Given the description of an element on the screen output the (x, y) to click on. 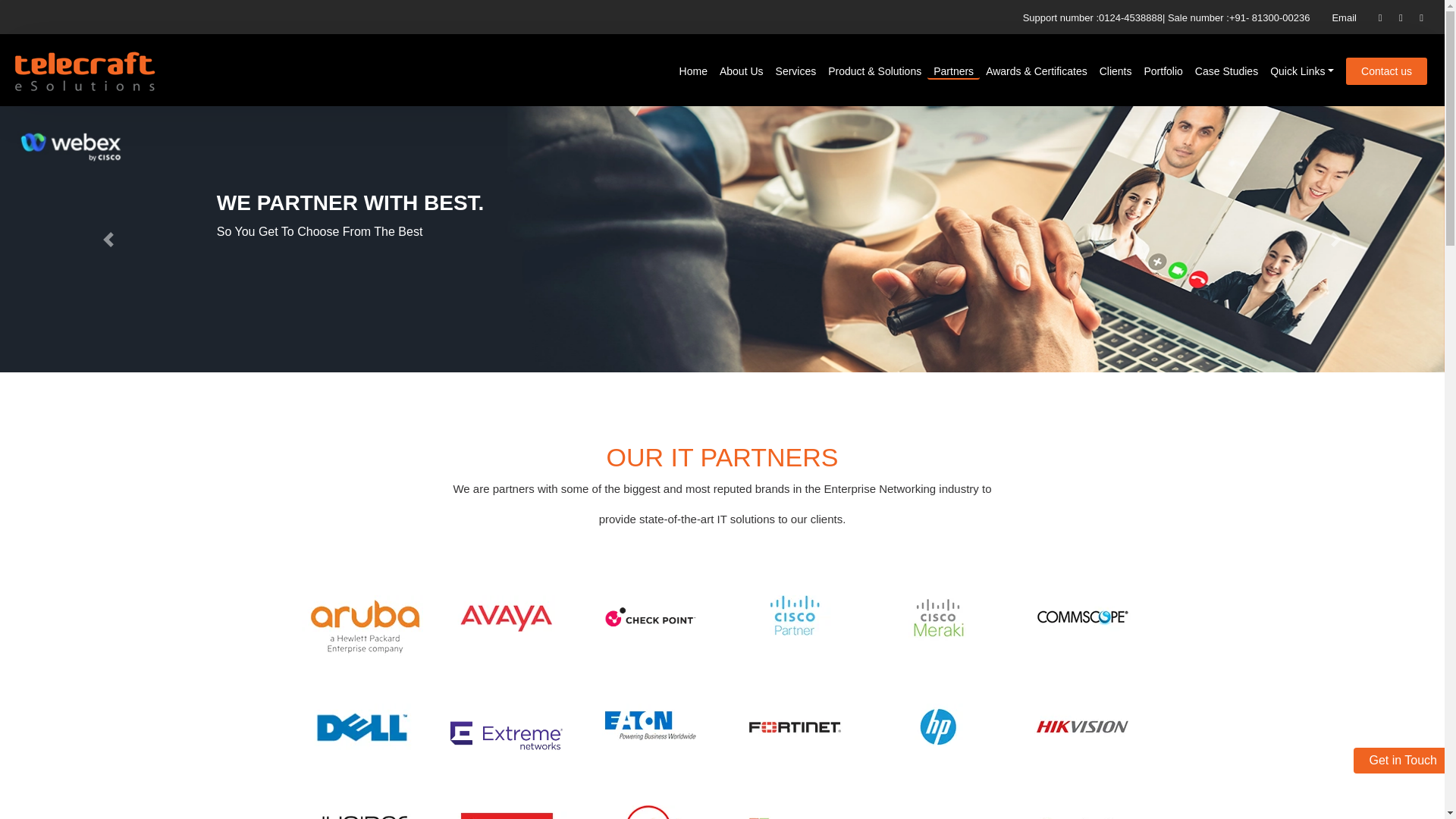
Clients (1115, 70)
0124-4538888 (1130, 17)
About Us (740, 70)
Contact us (1385, 71)
Portfolio (1162, 70)
Email (1344, 17)
Partners (953, 70)
Services (796, 70)
Home (693, 70)
Case Studies (1226, 70)
Quick Links (1301, 70)
